Given the description of an element on the screen output the (x, y) to click on. 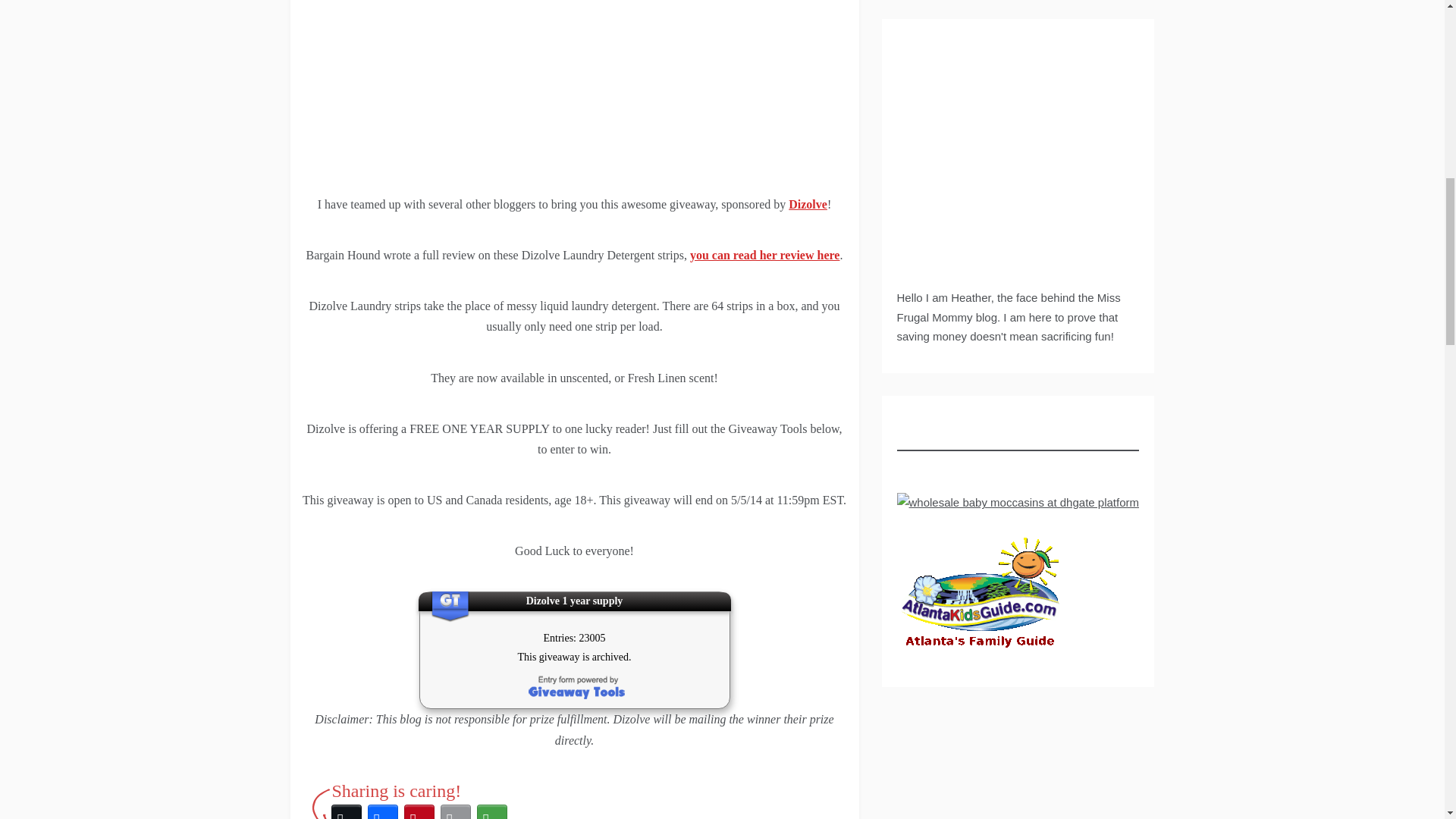
Pinterest (418, 810)
Email This (454, 810)
you can read her review here (765, 254)
More Options (491, 810)
Dizolve (808, 204)
Facebook (382, 810)
